Given the description of an element on the screen output the (x, y) to click on. 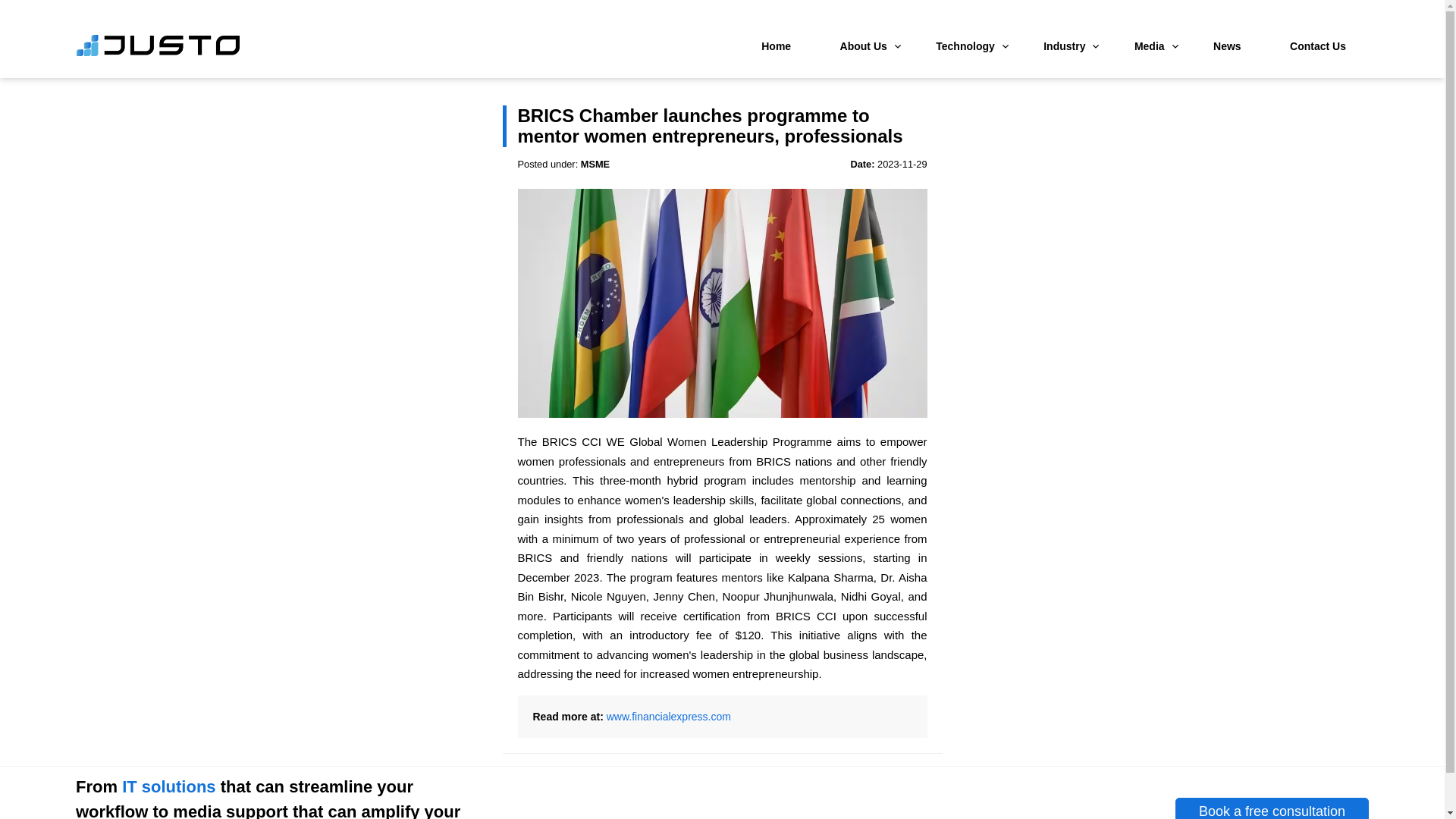
www.financialexpress.com (668, 716)
Technology (965, 45)
Justo (158, 53)
Home (775, 45)
Industry (1064, 45)
News (1227, 45)
Media (1149, 45)
Contact Us (1318, 45)
Book a free consultation (1271, 808)
About Us (863, 45)
